Given the description of an element on the screen output the (x, y) to click on. 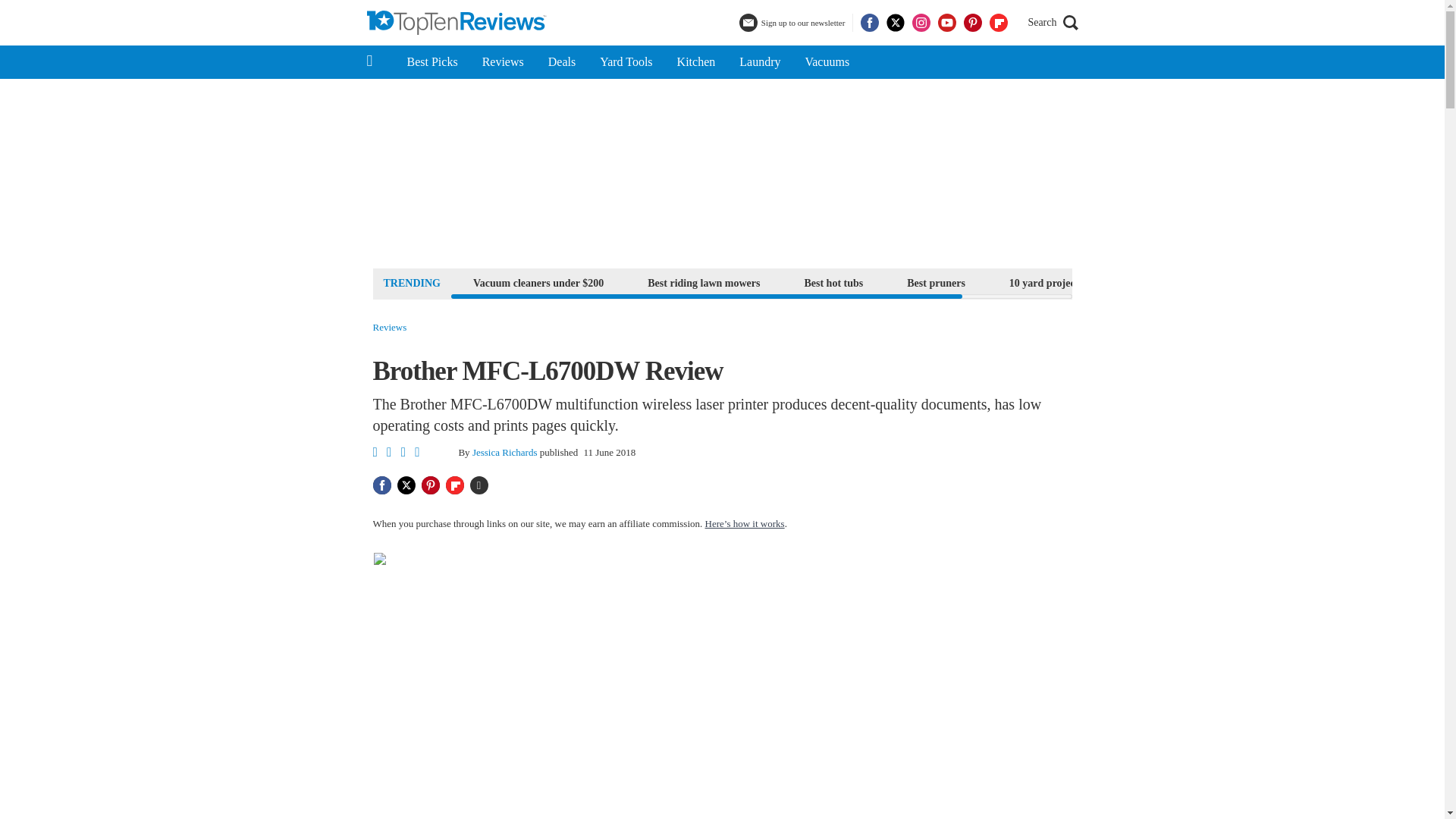
Best riding lawn mowers (703, 282)
Best hot tubs (832, 282)
Yard Tools (625, 61)
10 yard projects to complete in August (1096, 282)
Kitchen (696, 61)
Best Picks (431, 61)
Laundry (759, 61)
Vacuums (826, 61)
Reviews (389, 327)
Sign up to our newsletter (793, 22)
Reviews (502, 61)
Deals (561, 61)
Jessica Richards (504, 451)
Best pruners (936, 282)
